Given the description of an element on the screen output the (x, y) to click on. 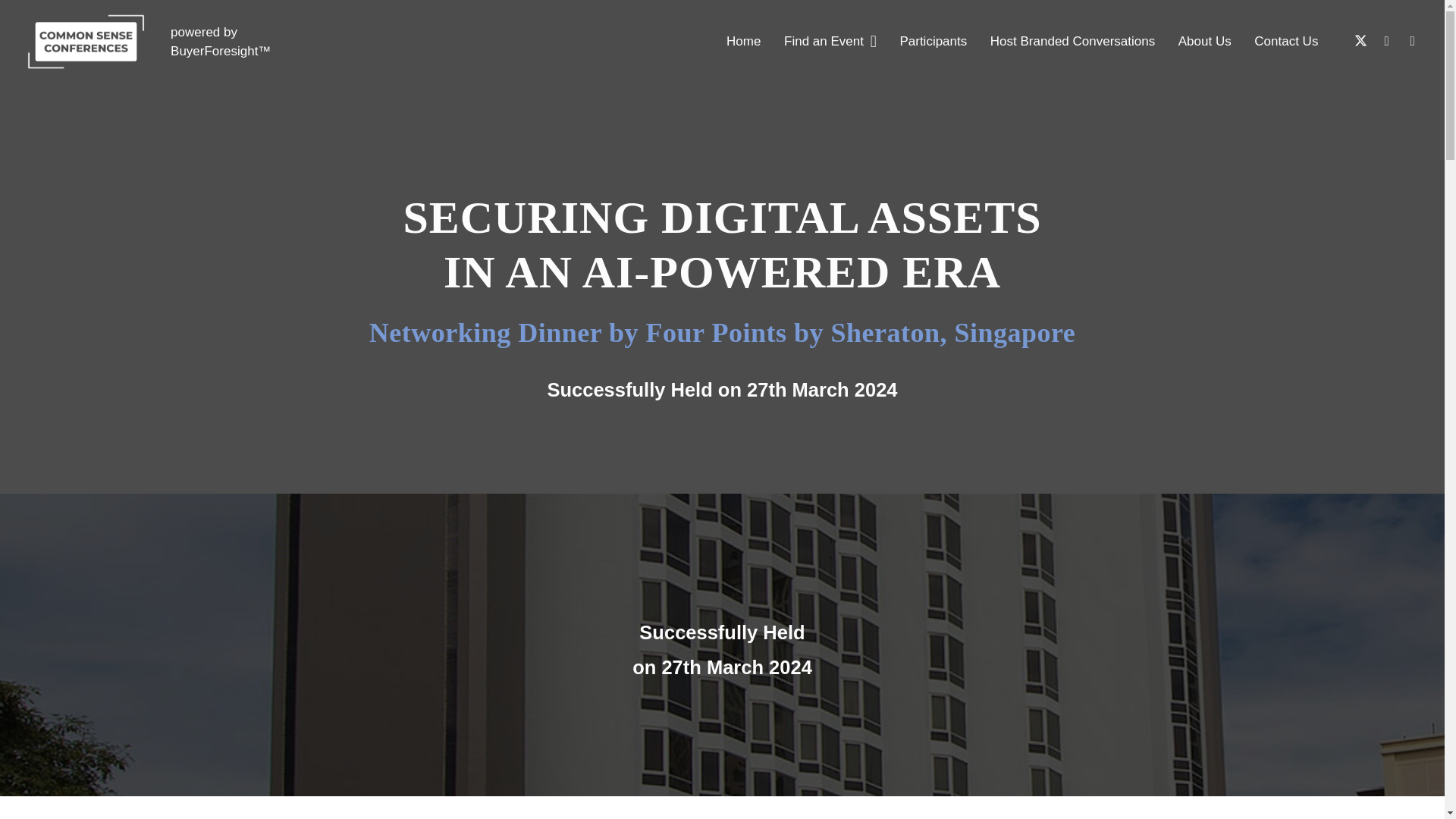
Find an Event (830, 41)
Facebook (1412, 41)
LinkedIn (1386, 41)
Twitter (1361, 41)
Host Branded Conversations (1072, 41)
Contact Us (1286, 41)
Participants (933, 41)
About Us (1204, 41)
